Given the description of an element on the screen output the (x, y) to click on. 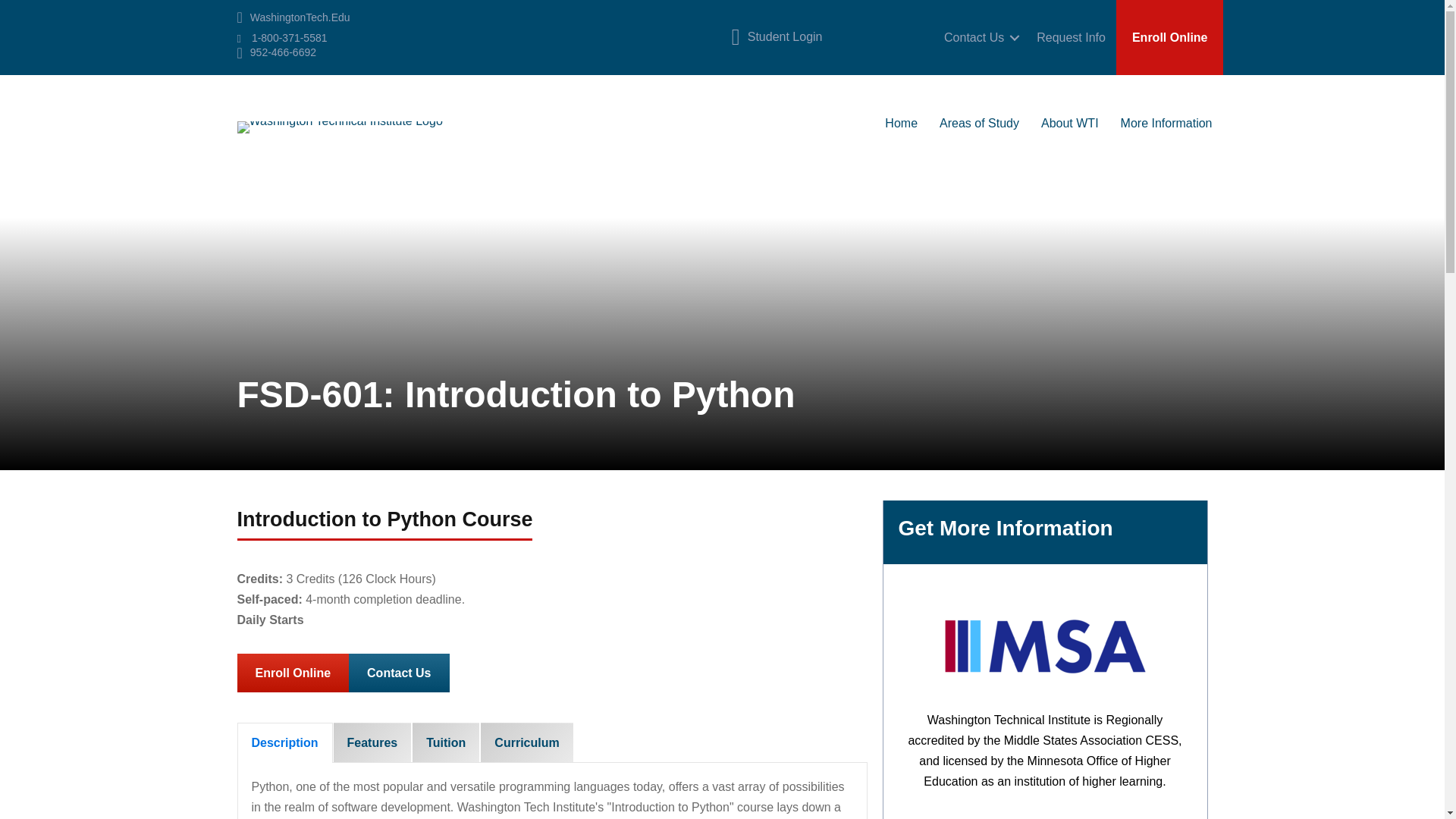
Washington Technical Institute Logo (338, 127)
Areas of Study (979, 119)
Enroll Online (1169, 37)
6b53616d-4441-44d0-ad25-f66be4ea24dd (1044, 647)
1-800-371-5581 (289, 37)
More Information (1166, 119)
952-466-6692 (282, 51)
WashingtonTech.Edu (300, 17)
Student Login (785, 37)
Contact Us (979, 37)
Request Info (1071, 37)
